Given the description of an element on the screen output the (x, y) to click on. 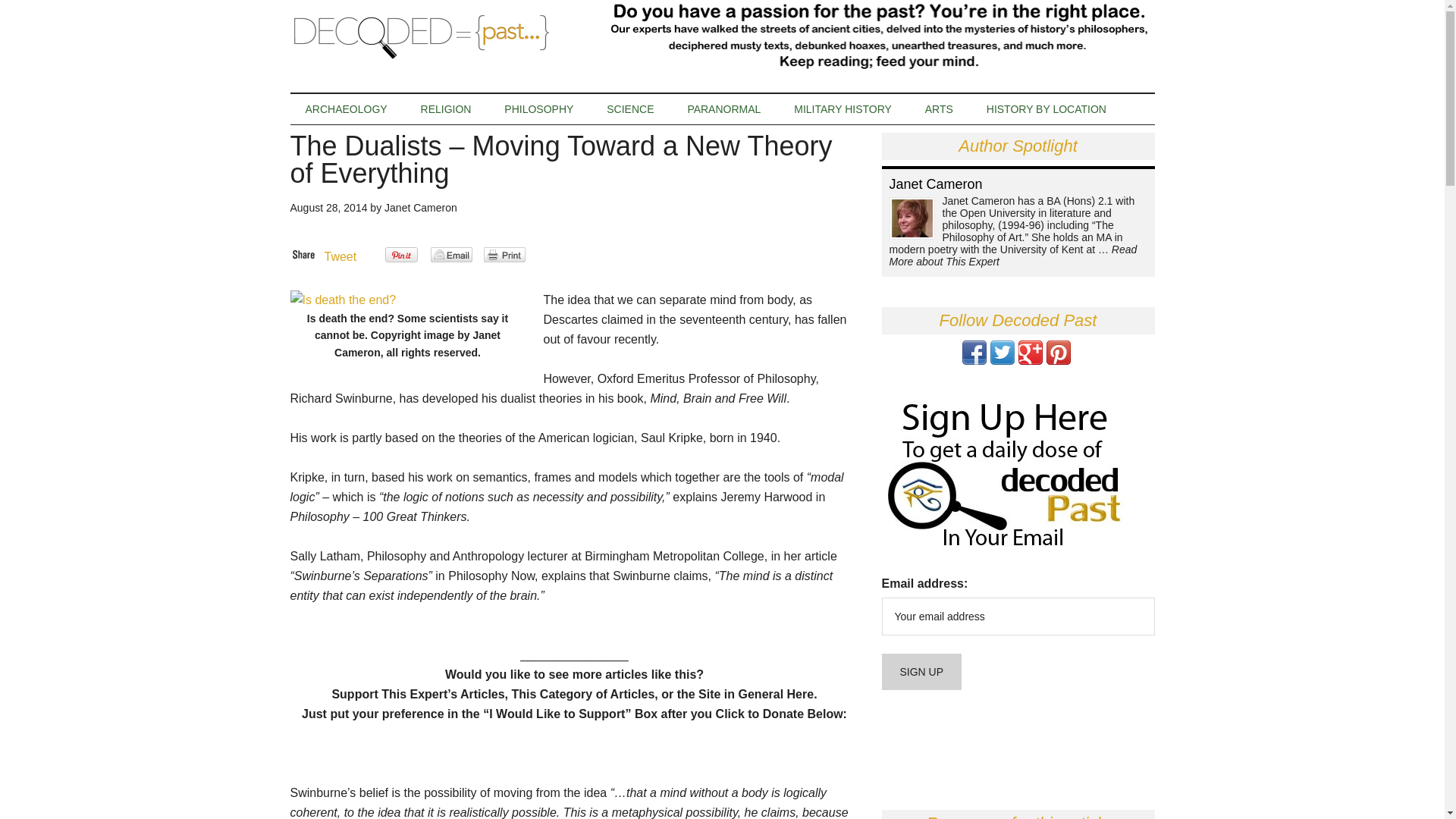
RELIGION (446, 109)
Decoded Past (433, 37)
Tweet (340, 256)
PHILOSOPHY (538, 109)
Follow DecodedPast on Twitter (1002, 359)
HISTORY BY LOCATION (1046, 109)
ARCHAEOLOGY (345, 109)
Sign up (920, 671)
decodedscience on Pinterest (1058, 359)
Email (450, 254)
